Given the description of an element on the screen output the (x, y) to click on. 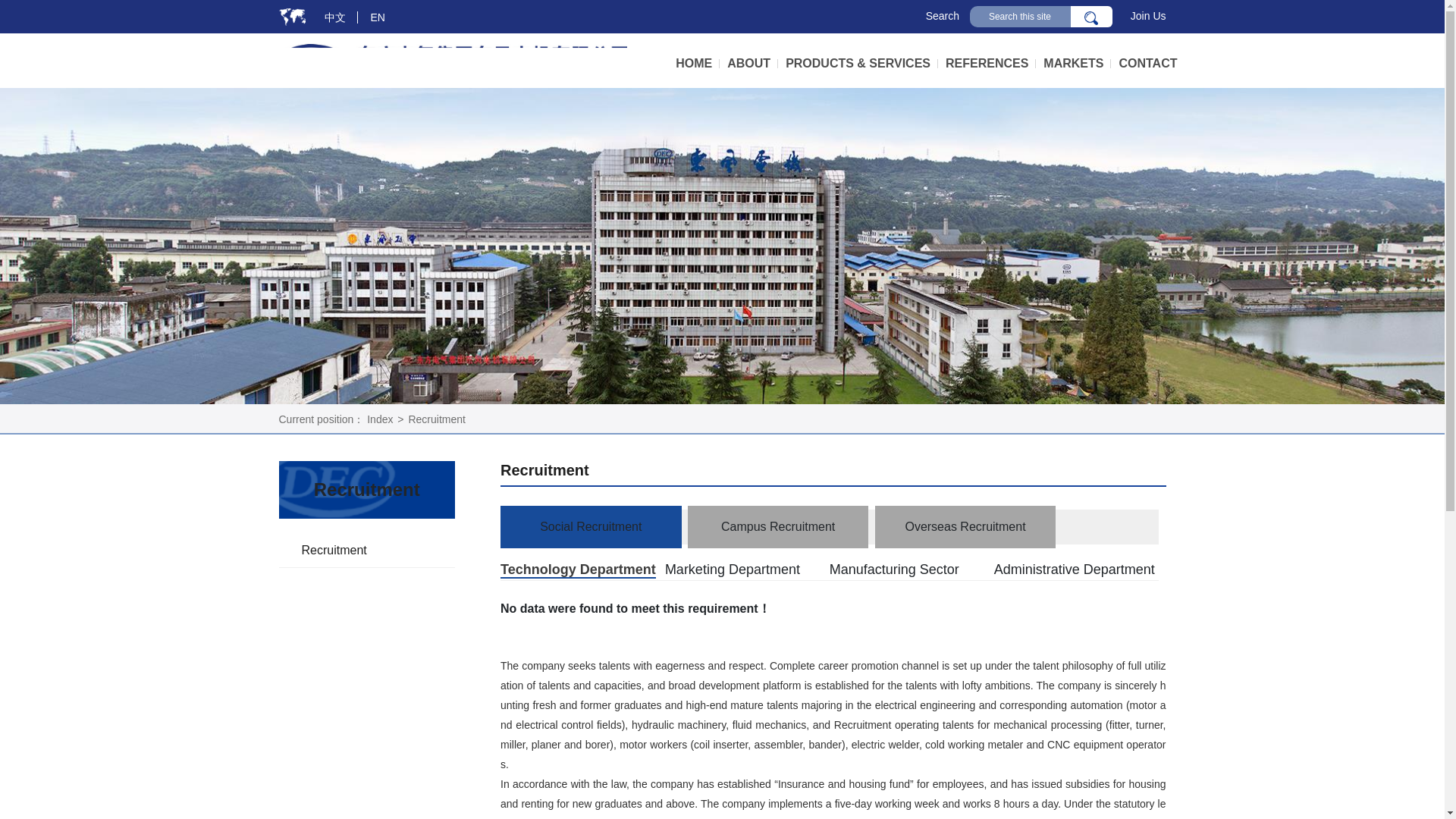
ABOUT (751, 63)
REFERENCES (989, 63)
Join Us (1148, 15)
CONTACT (1147, 63)
HOME (697, 63)
EN (378, 16)
MARKETS (1076, 63)
